Given the description of an element on the screen output the (x, y) to click on. 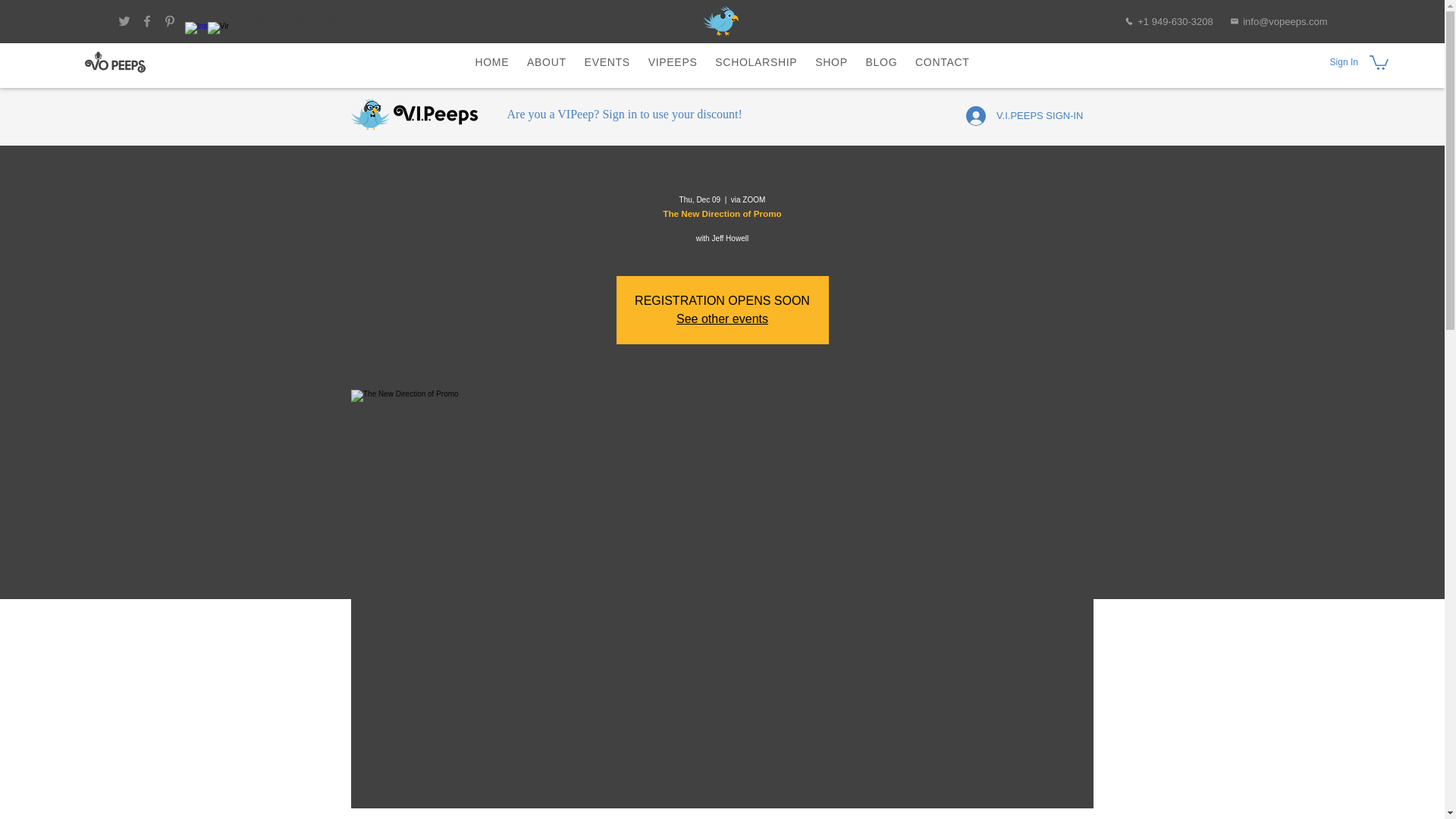
Sign In (1330, 62)
See other events (722, 318)
JOIN NOW (413, 114)
HOME (722, 62)
CONTACT (492, 62)
HOME (942, 62)
BLOG (720, 20)
SCHOLARSHIP (881, 62)
SHOP (756, 62)
ABOUT (830, 62)
EVENTS (546, 62)
V.I.PEEPS SIGN-IN (606, 62)
